Given the description of an element on the screen output the (x, y) to click on. 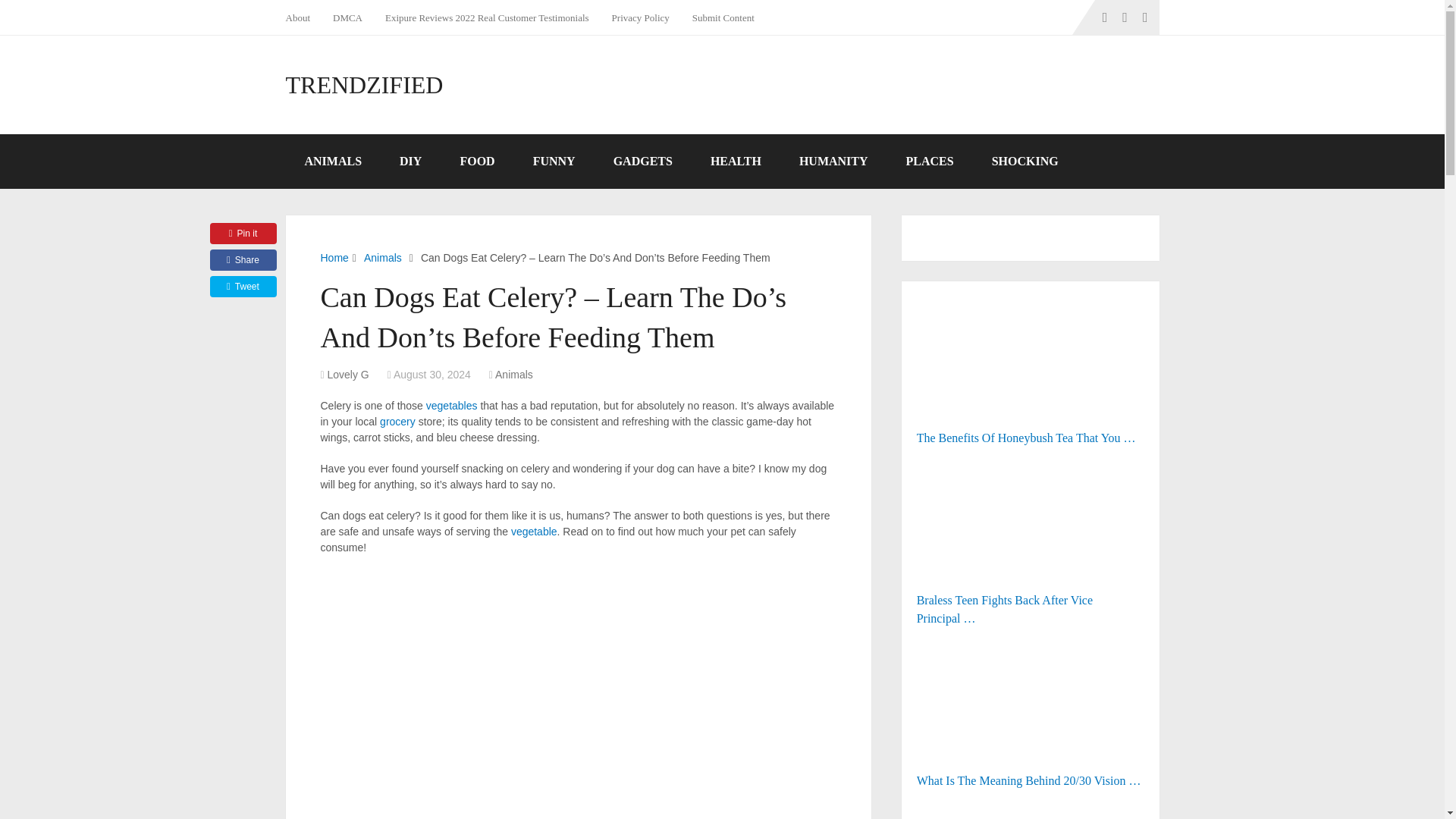
Exipure Reviews 2022 Real Customer Testimonials (486, 17)
Posts by Lovely G (348, 374)
SHOCKING (1024, 161)
Home (333, 257)
DMCA (347, 17)
HUMANITY (833, 161)
GADGETS (642, 161)
vegetable (534, 531)
FUNNY (553, 161)
Pin it (242, 233)
